Given the description of an element on the screen output the (x, y) to click on. 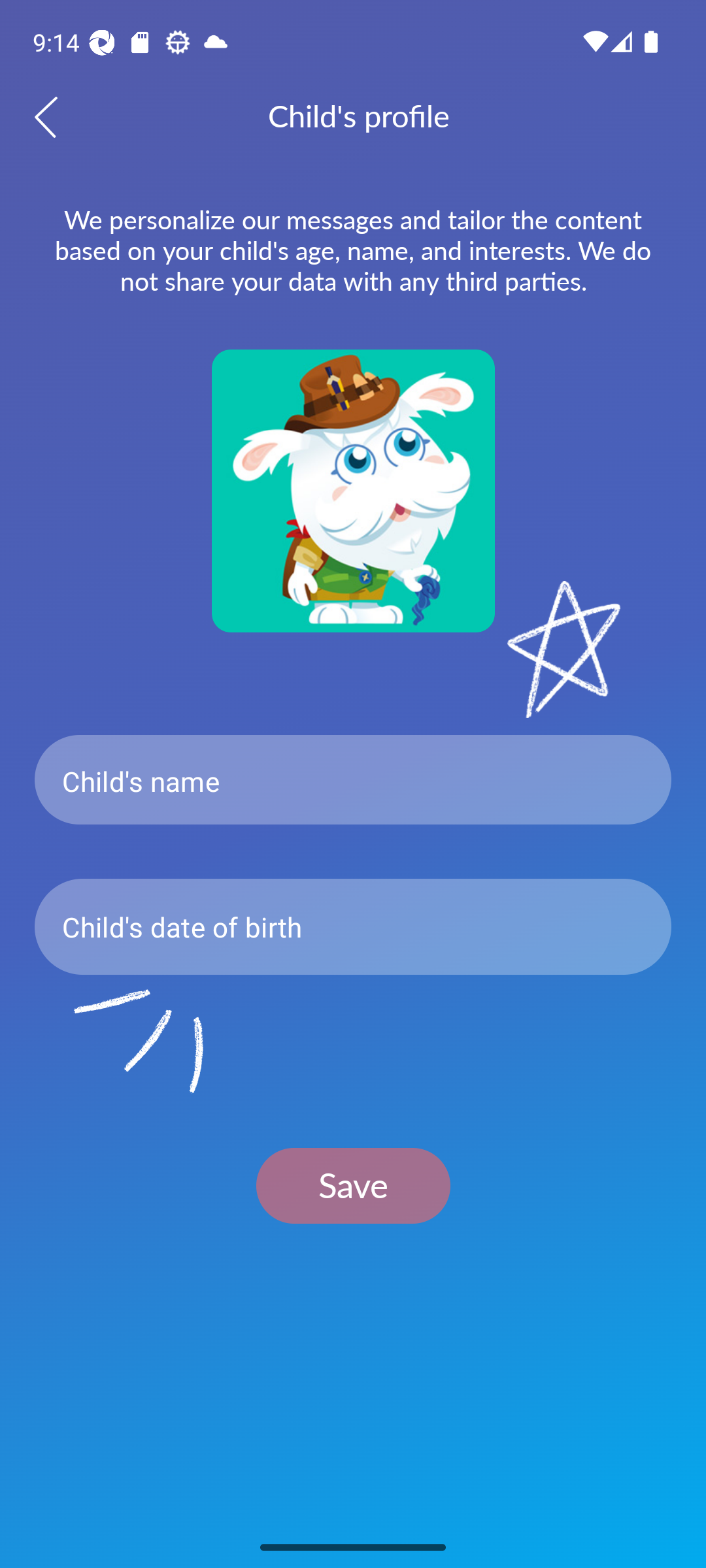
Child's name (352, 779)
Child's date of birth (352, 926)
Save (353, 1185)
